Given the description of an element on the screen output the (x, y) to click on. 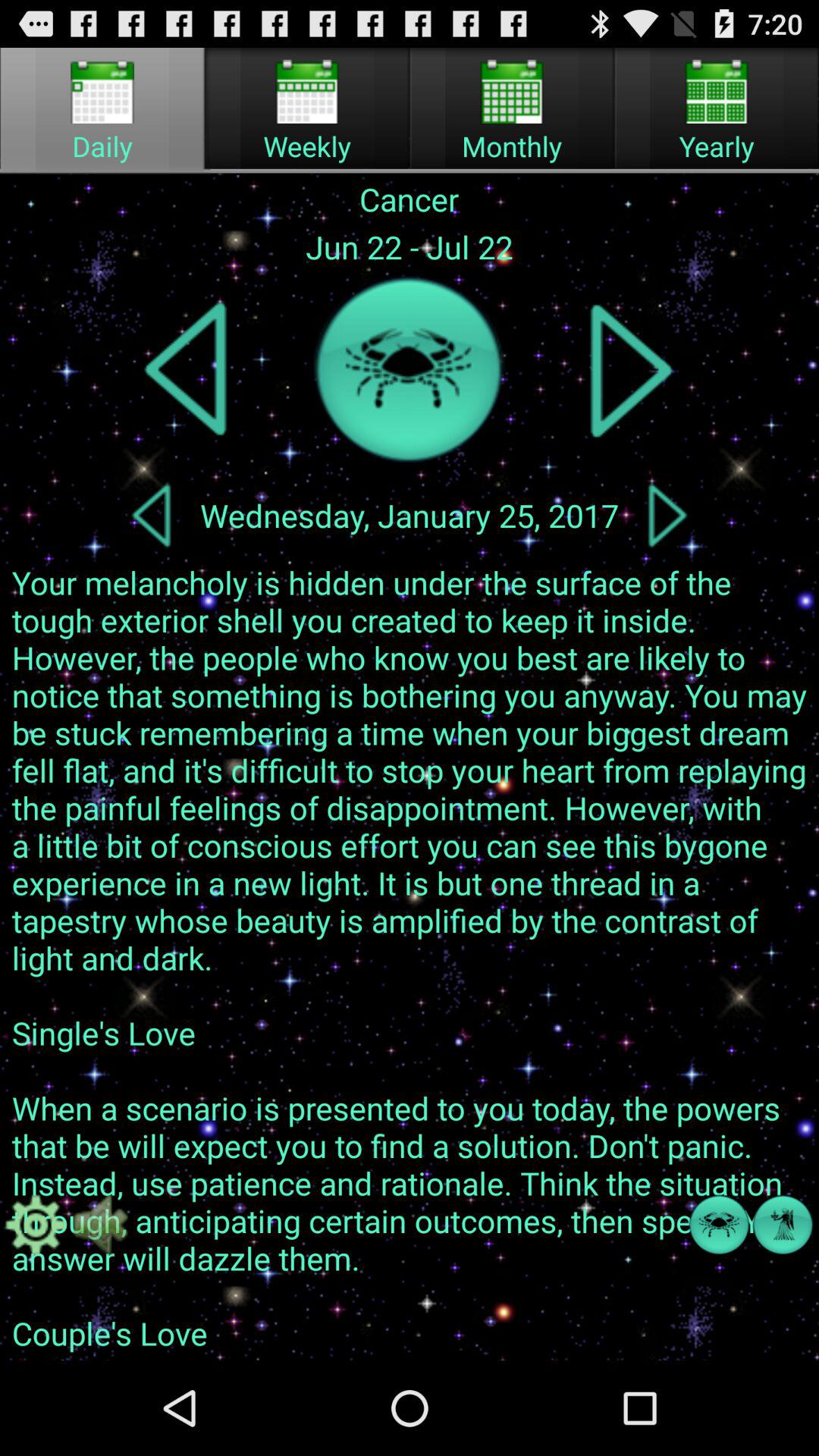
next day (667, 514)
